Given the description of an element on the screen output the (x, y) to click on. 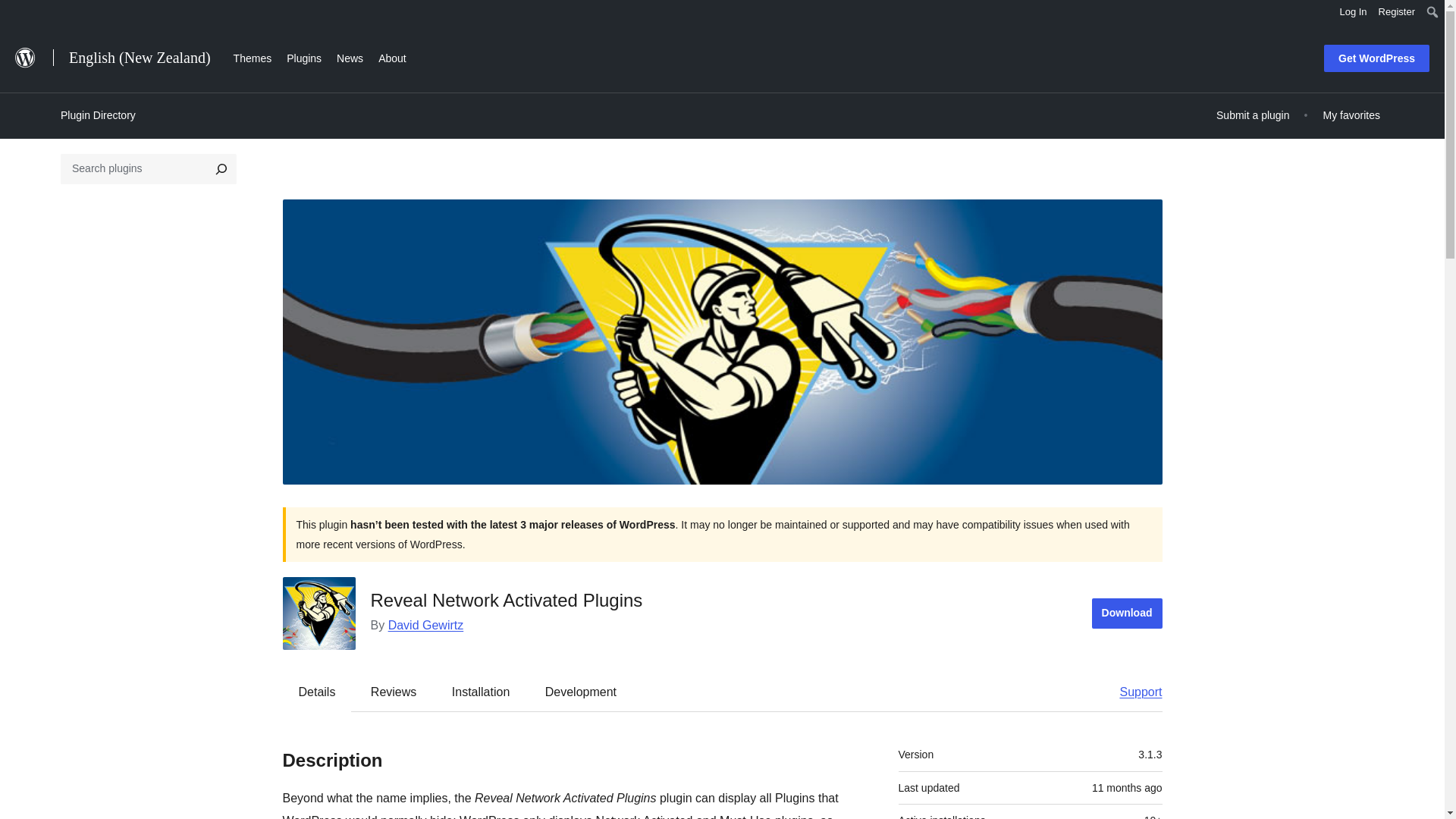
Details (316, 692)
Plugin Directory (97, 115)
David Gewirtz (426, 625)
Submit a plugin (1253, 115)
Log In (1353, 12)
Download (1126, 613)
Development (580, 692)
Support (1132, 692)
Reviews (392, 692)
Register (1397, 12)
Get WordPress (1376, 58)
My favorites (1351, 115)
Installation (480, 692)
Search (16, 13)
